Given the description of an element on the screen output the (x, y) to click on. 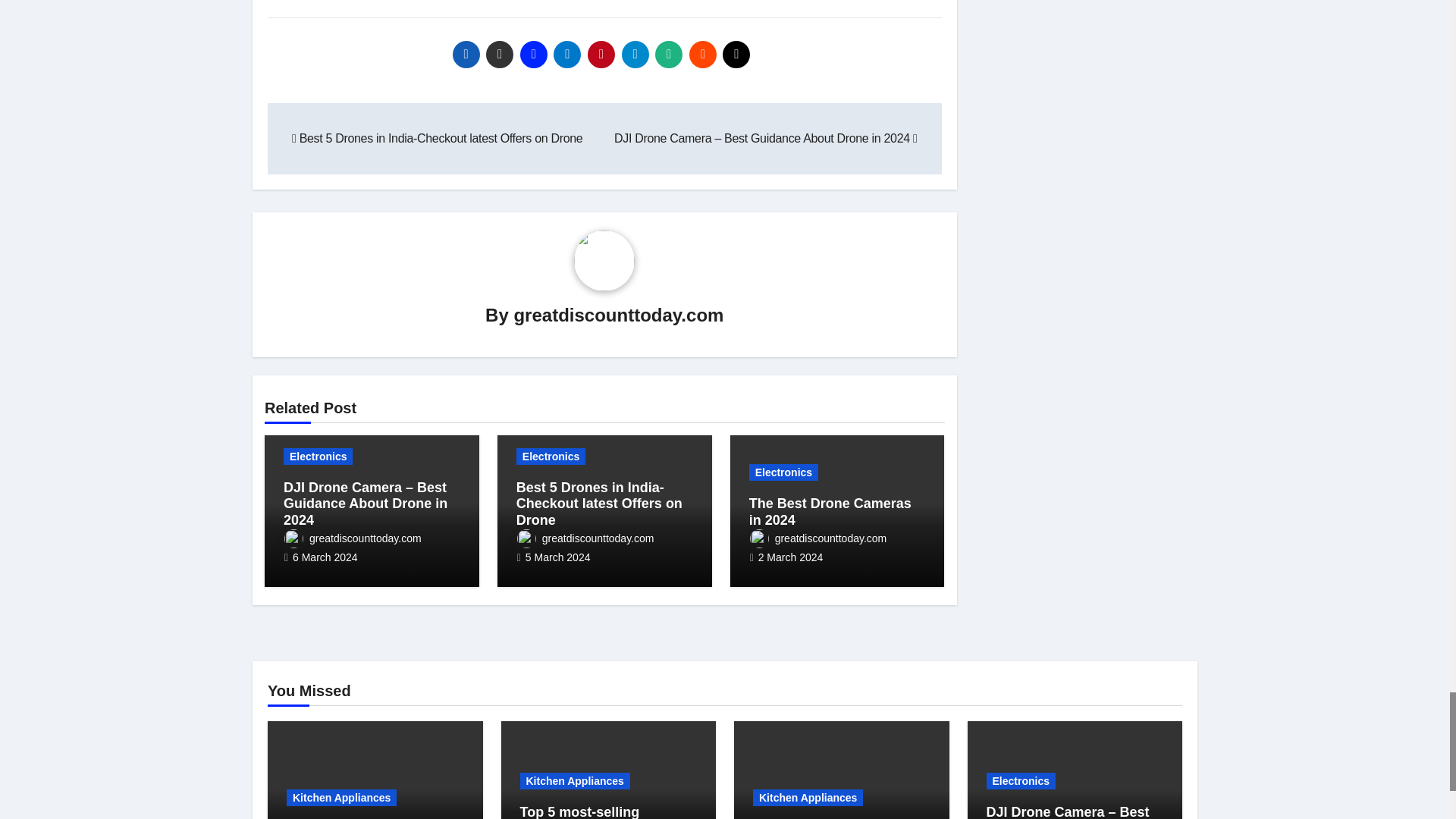
5 March 2024 (558, 557)
6 March 2024 (325, 557)
Electronics (550, 456)
Best 5 Drones in India-Checkout latest Offers on Drone (437, 137)
Best 5 Drones in India-Checkout latest Offers on Drone (599, 503)
Permalink to: The Best Drone Cameras in 2024 (830, 511)
greatdiscounttoday.com (584, 538)
Electronics (317, 456)
greatdiscounttoday.com (618, 314)
